Given the description of an element on the screen output the (x, y) to click on. 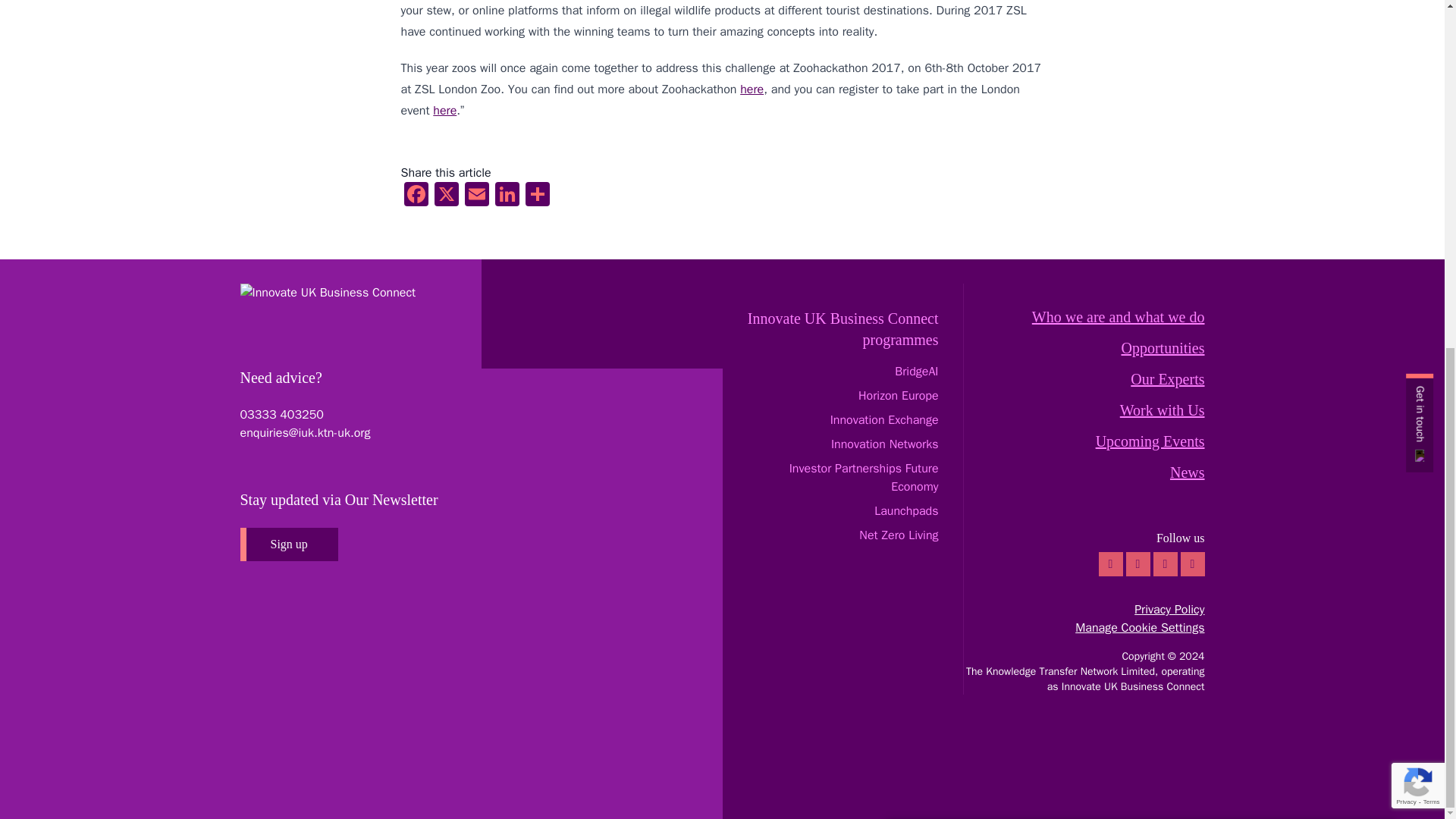
Facebook (415, 195)
Sign Up (1141, 541)
X (445, 195)
Email (476, 195)
on (940, 580)
LinkedIn (506, 195)
